Given the description of an element on the screen output the (x, y) to click on. 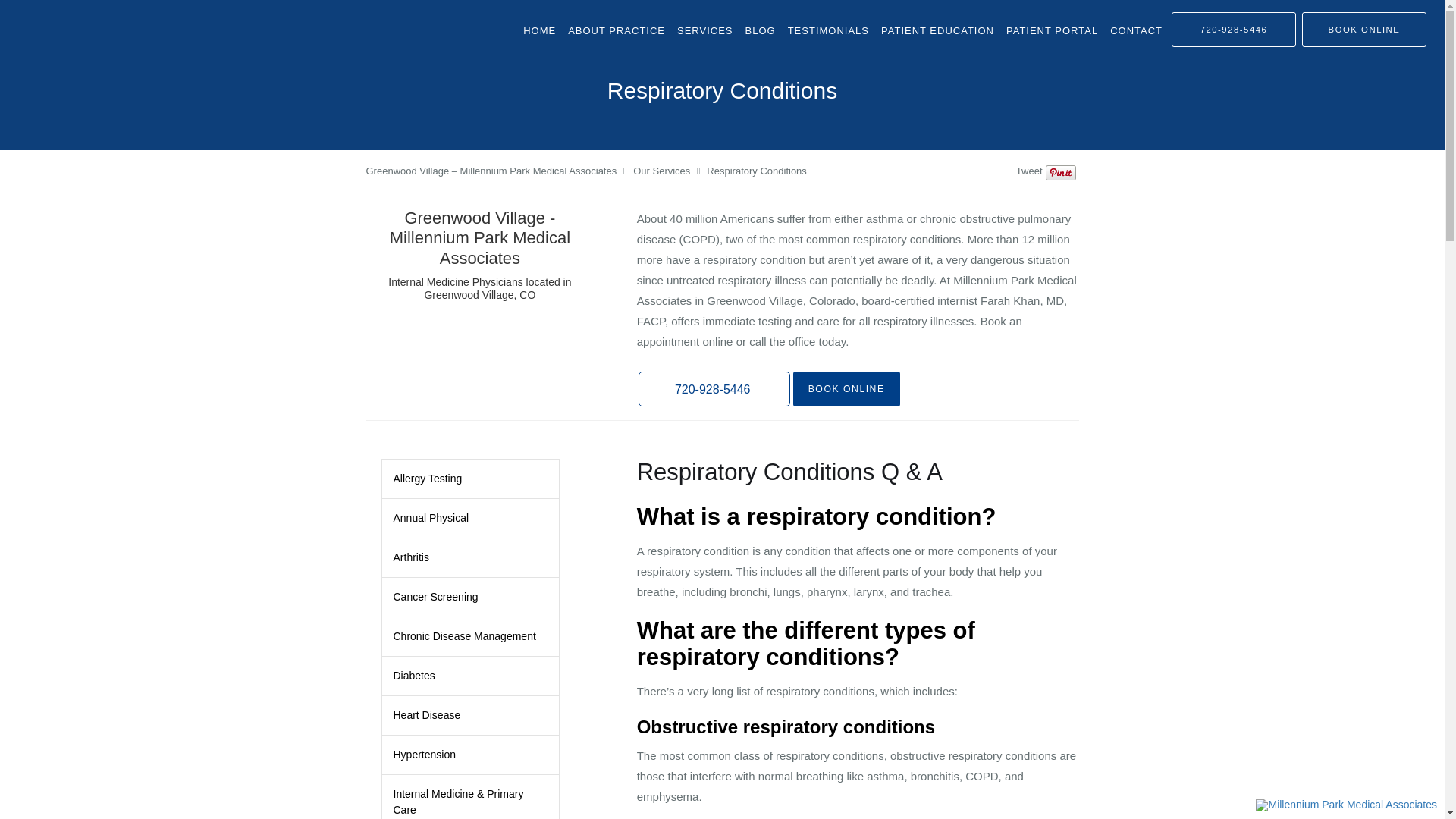
BOOK ONLINE (1363, 29)
TESTIMONIALS (828, 30)
PATIENT EDUCATION (937, 30)
Millennium Park Medical Associates (1346, 805)
ABOUT PRACTICE (616, 30)
720-928-5446 (1233, 29)
CONTACT (1136, 30)
PATIENT PORTAL (1051, 30)
SERVICES (705, 30)
